Given the description of an element on the screen output the (x, y) to click on. 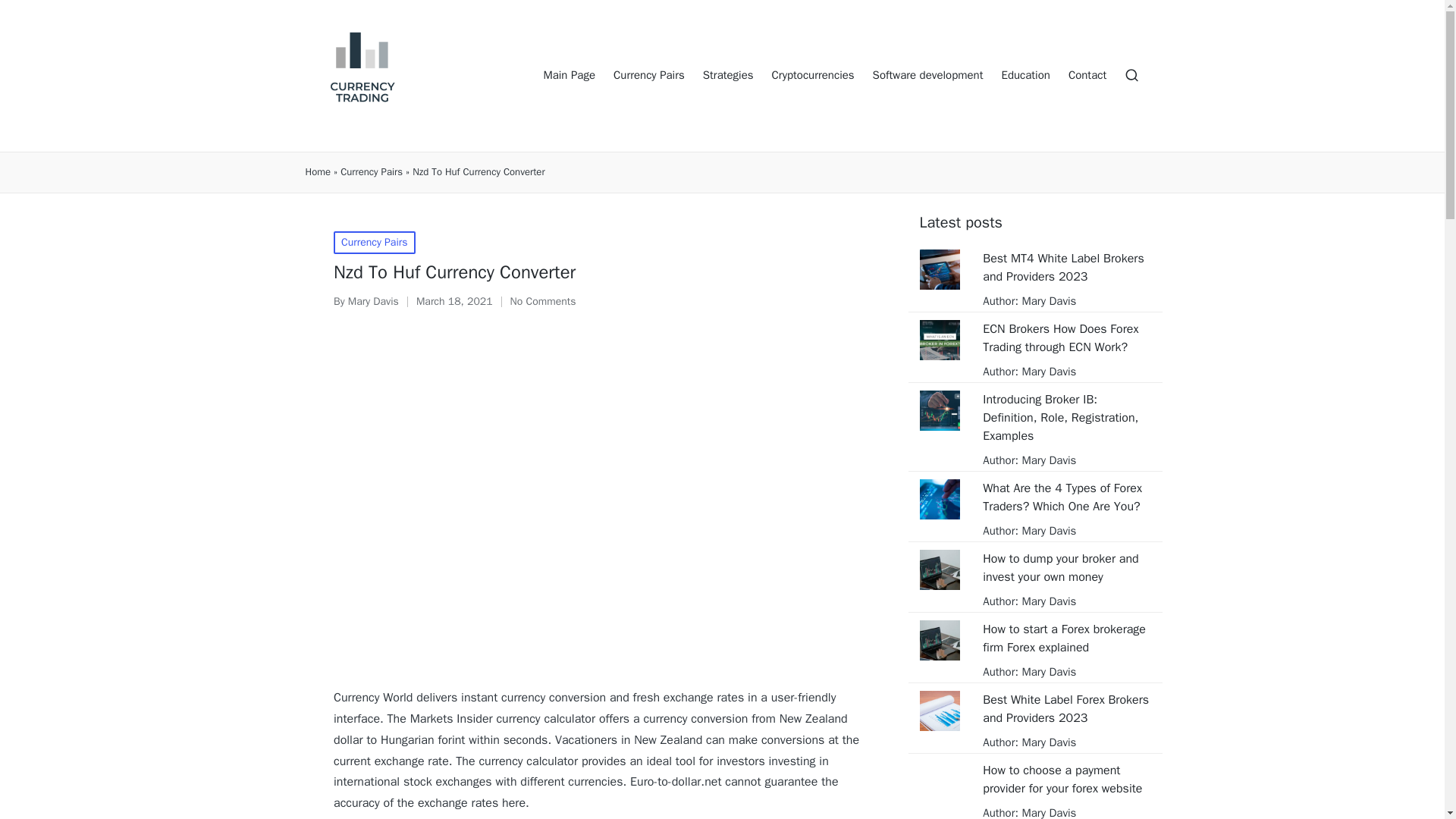
Software development (928, 75)
What Are the 4 Types of Forex Traders? Which One Are You? (1066, 497)
Mary Davis (372, 300)
Best MT4 White Label Brokers and Providers 2023 (1066, 267)
Education (1025, 75)
Mary Davis (1046, 530)
ECN Brokers How Does Forex Trading through ECN Work? (1066, 338)
Currency Pairs (373, 241)
No Comments (543, 301)
Strategies (728, 75)
Mary Davis (1046, 371)
Home (317, 171)
Currency Pairs (371, 171)
Main Page (569, 75)
